Given the description of an element on the screen output the (x, y) to click on. 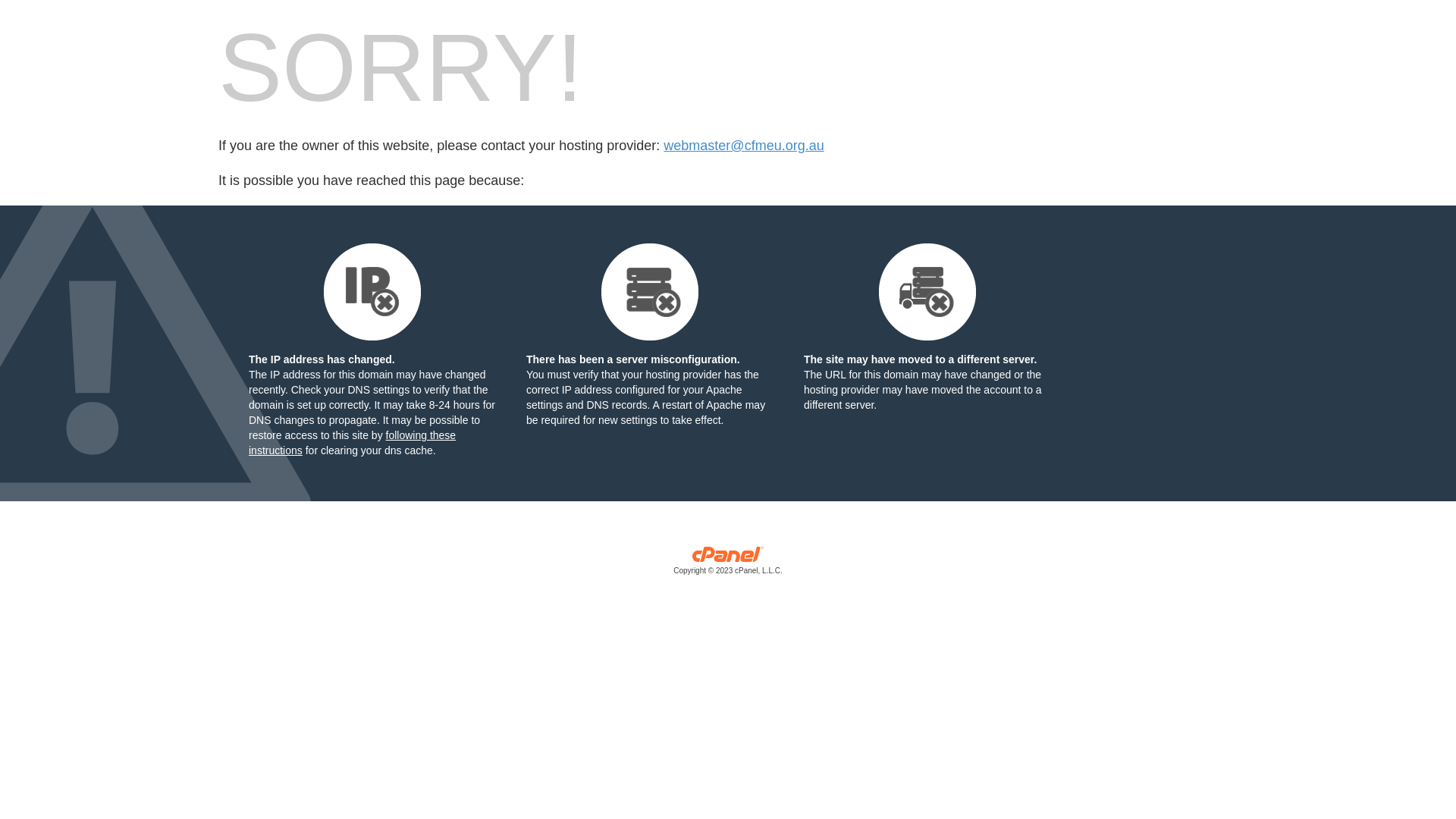
following these instructions Element type: text (351, 442)
webmaster@cfmeu.org.au Element type: text (743, 145)
